Given the description of an element on the screen output the (x, y) to click on. 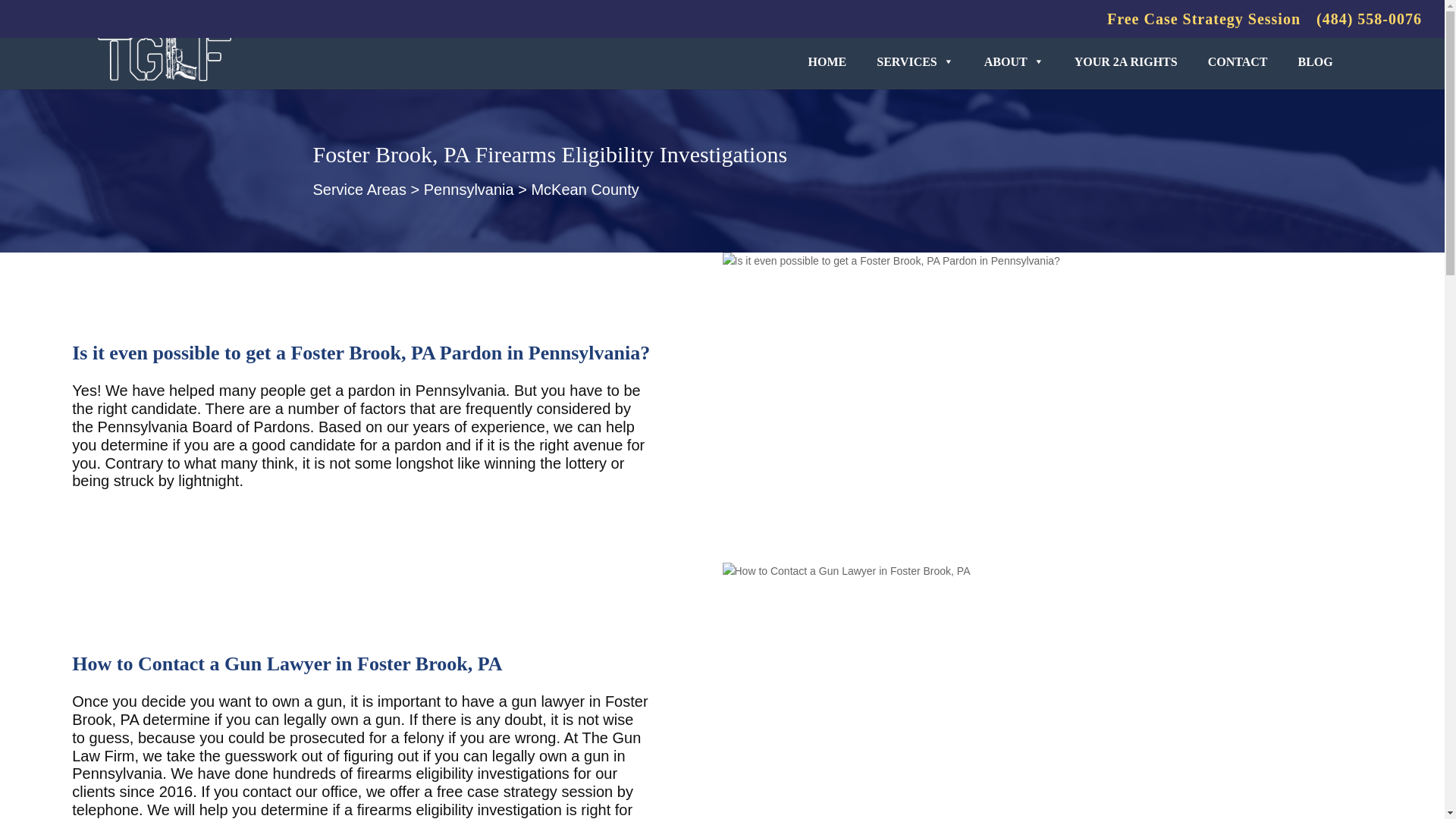
McKean County (585, 189)
CONTACT (1237, 61)
BLOG (1315, 61)
Service Areas (359, 189)
ABOUT (1014, 61)
Free Case Strategy Session (1203, 24)
YOUR 2A RIGHTS (1125, 61)
Pennsylvania (468, 189)
HOME (827, 61)
SERVICES (914, 61)
